Given the description of an element on the screen output the (x, y) to click on. 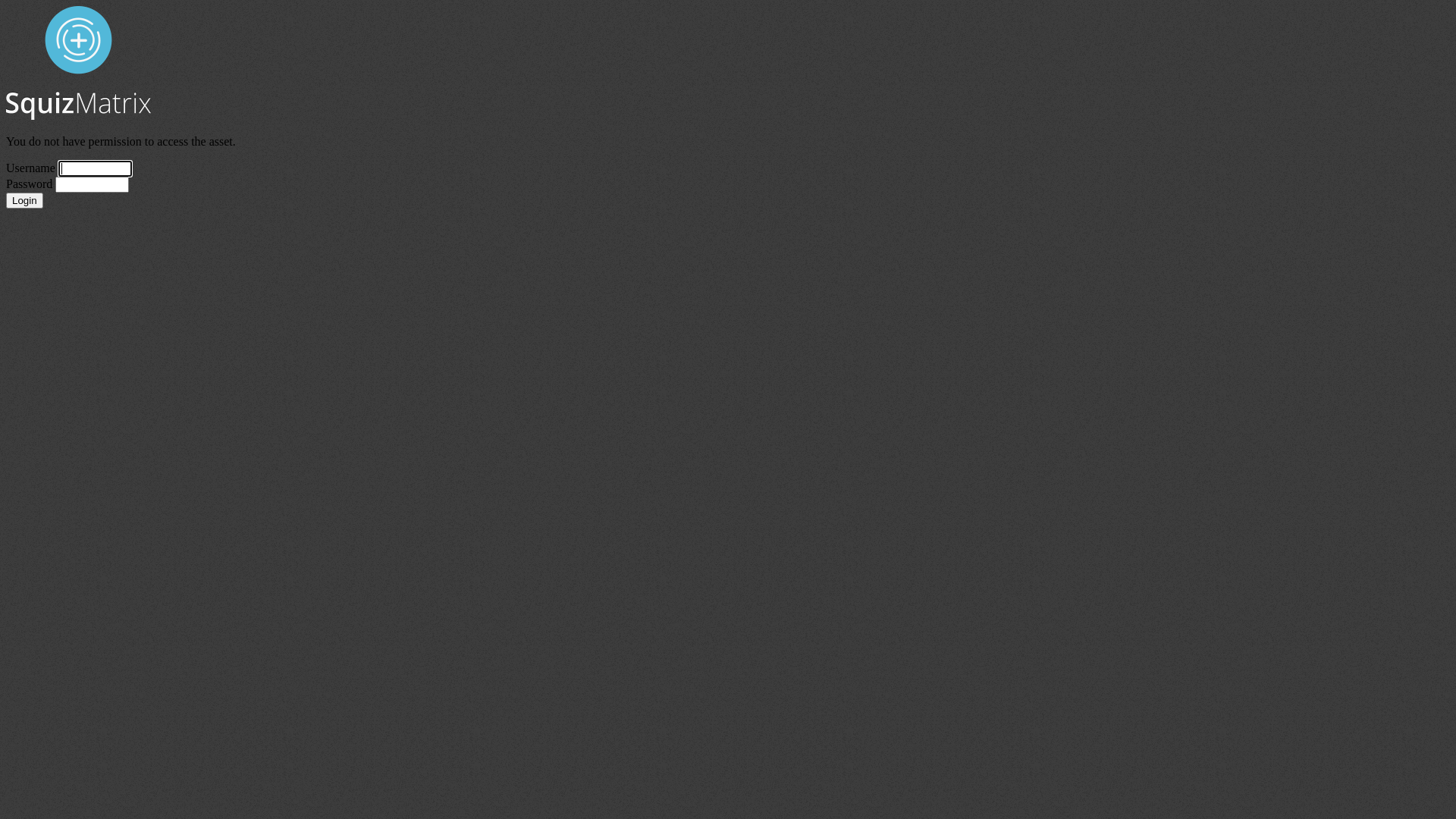
Login Element type: text (24, 200)
